Given the description of an element on the screen output the (x, y) to click on. 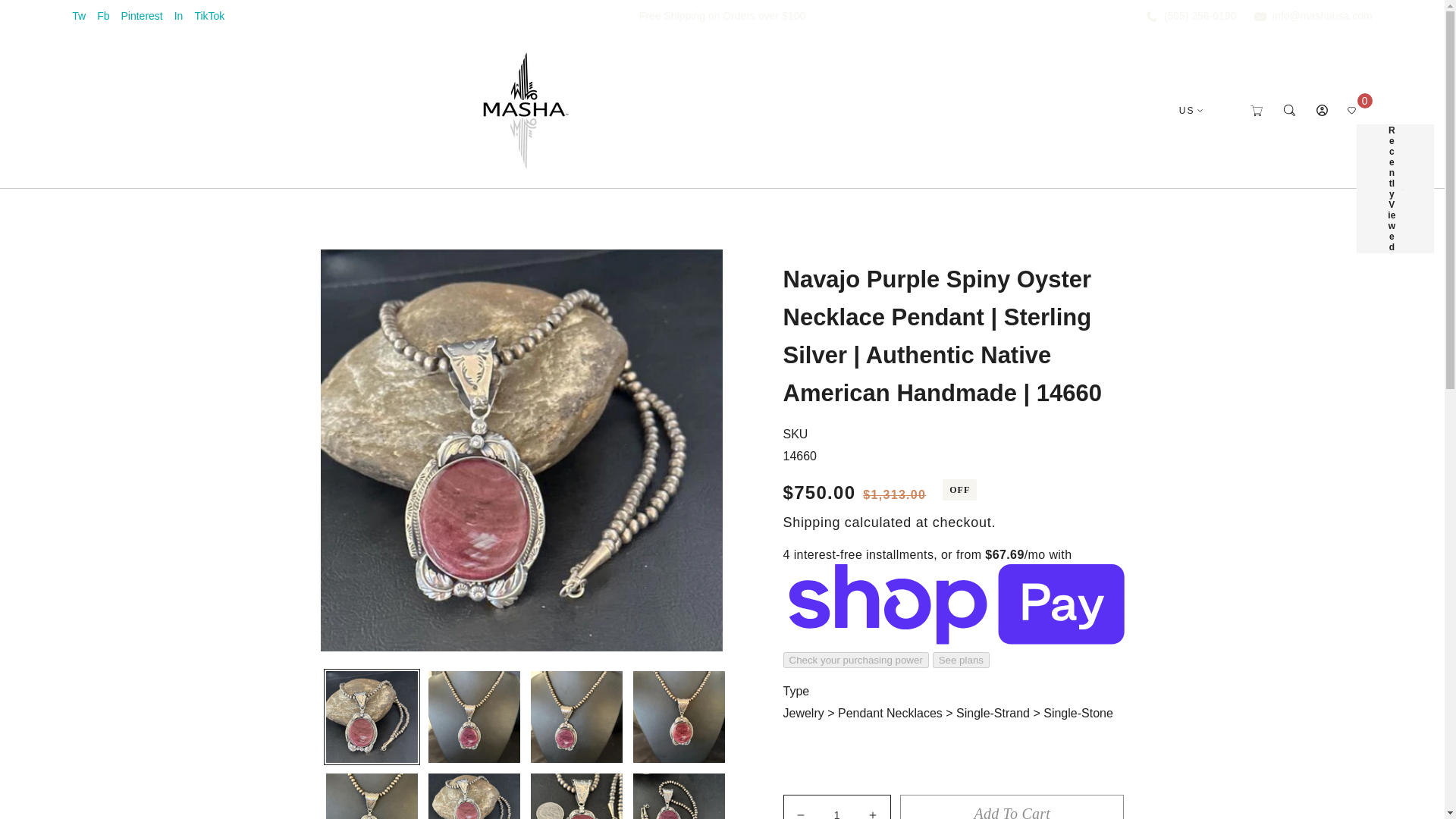
Fb (108, 15)
Tw (84, 15)
Pinterest (146, 15)
1 (837, 806)
TikTok (208, 15)
In (184, 15)
Skip To Content (45, 20)
